Given the description of an element on the screen output the (x, y) to click on. 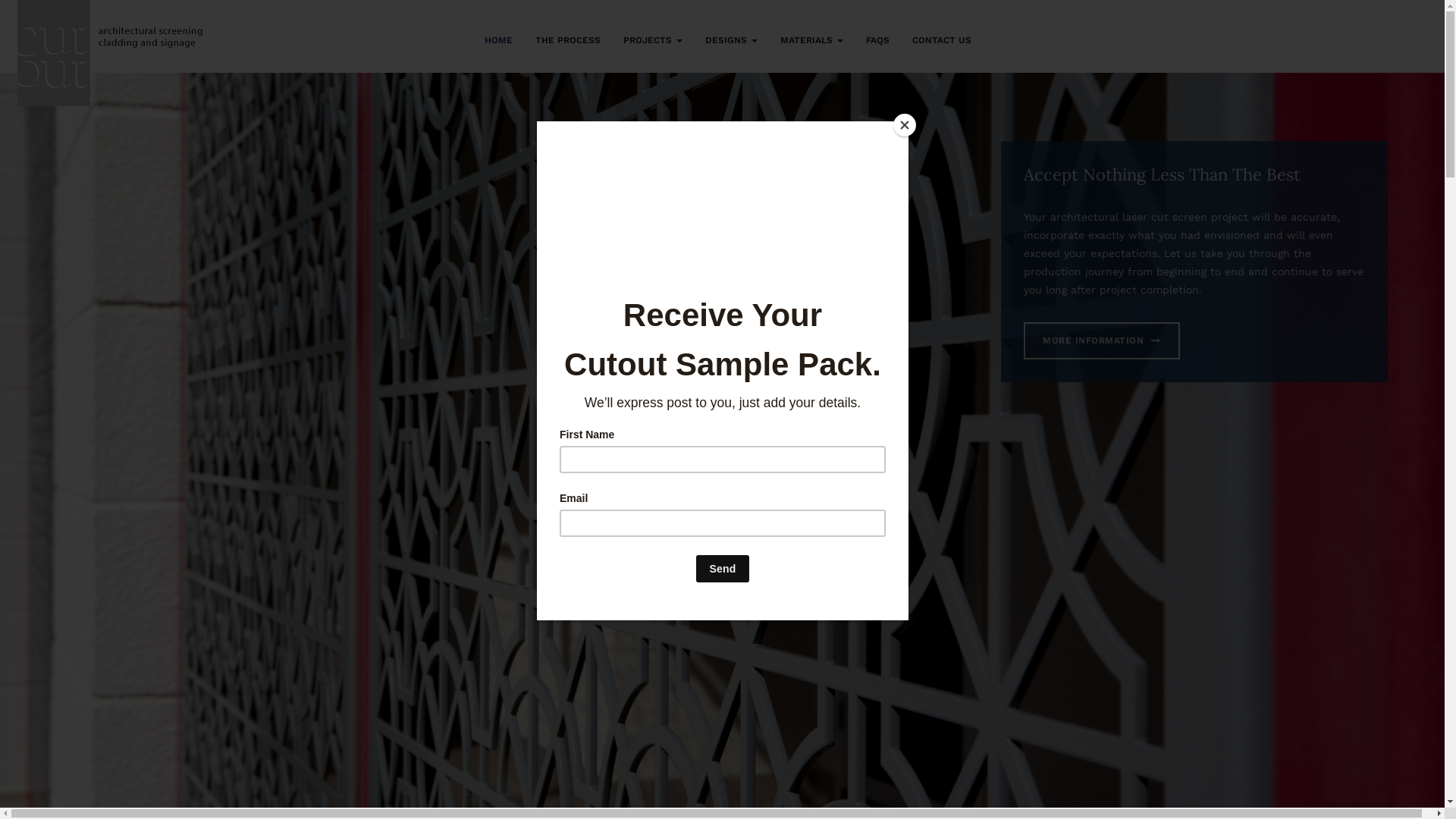
MORE INFORMATION Element type: text (1101, 341)
HOME Element type: text (498, 38)
CONTACT US Element type: text (941, 38)
Cutout Architectural Cutting Solutions Element type: hover (109, 53)
THE PROCESS Element type: text (567, 38)
FAQS Element type: text (877, 38)
